Given the description of an element on the screen output the (x, y) to click on. 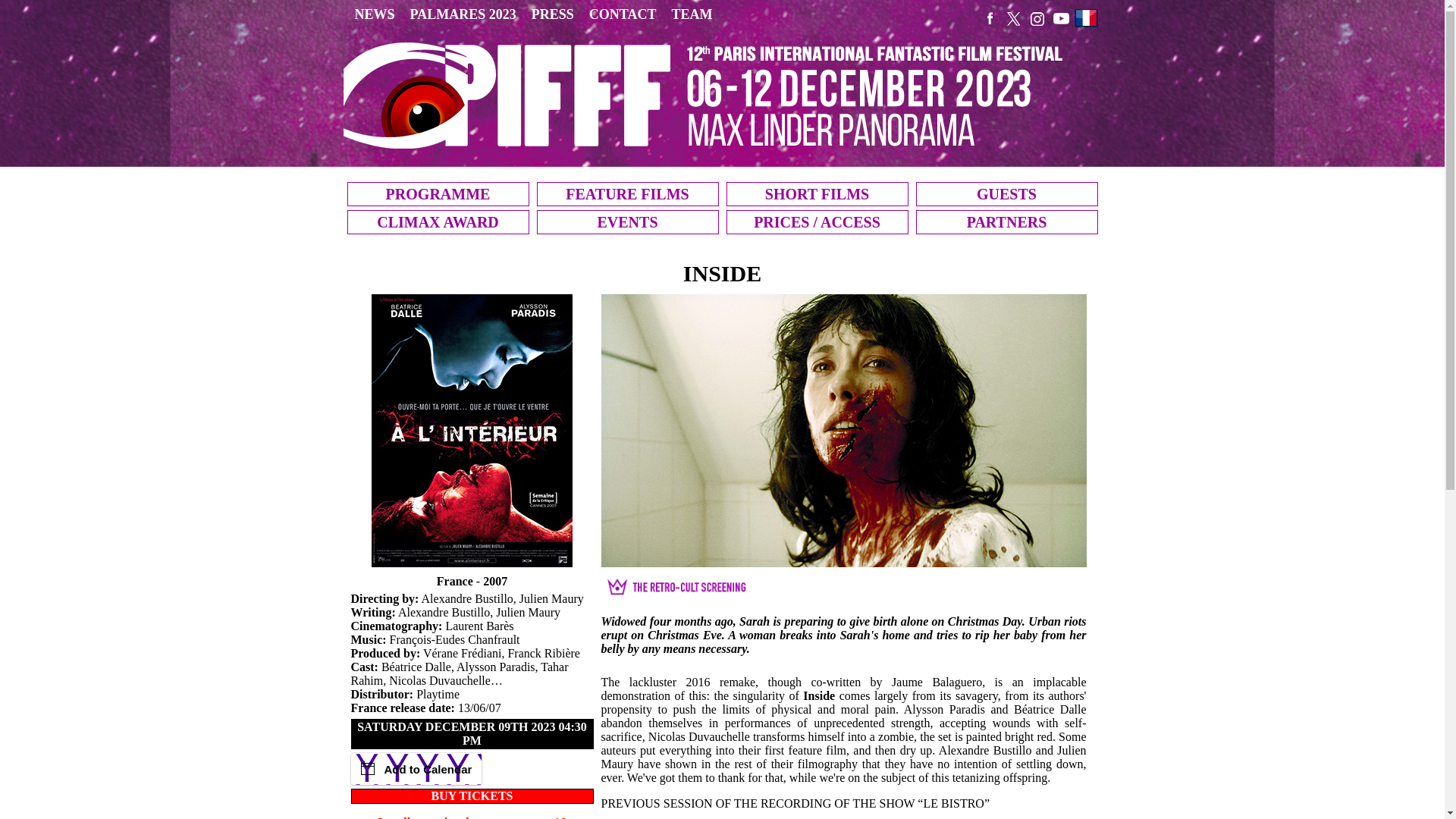
TEAM (691, 15)
NEWS (375, 15)
BUY TICKETS (471, 795)
Paris International Fantastic Film Festival (710, 94)
CONTACT (621, 15)
SATURDAY DECEMBER 09TH 2023 04:30 PM (471, 733)
PRESS (552, 15)
PALMARES 2023 (463, 15)
